Given the description of an element on the screen output the (x, y) to click on. 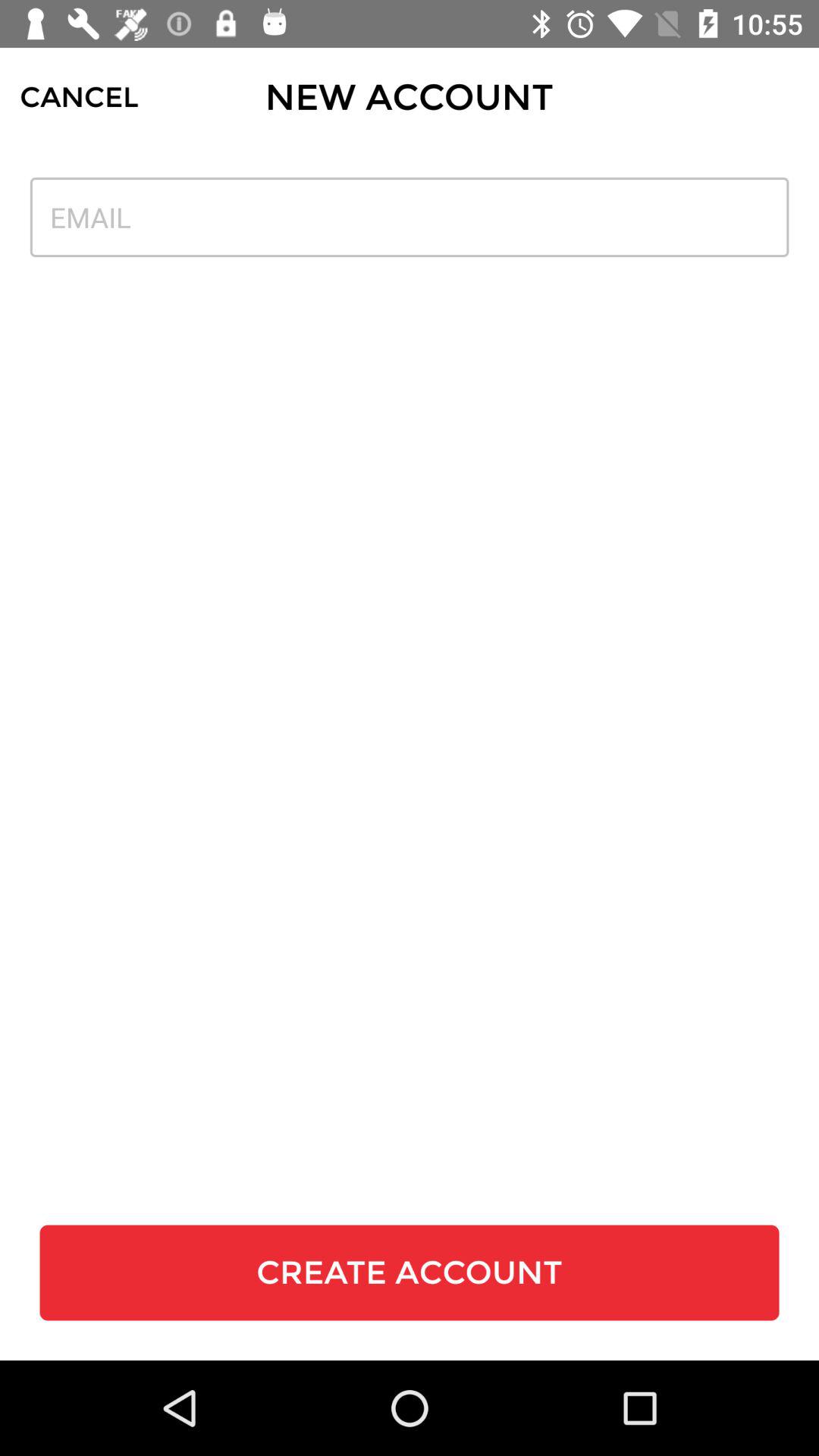
click the icon next to the new account icon (78, 97)
